Given the description of an element on the screen output the (x, y) to click on. 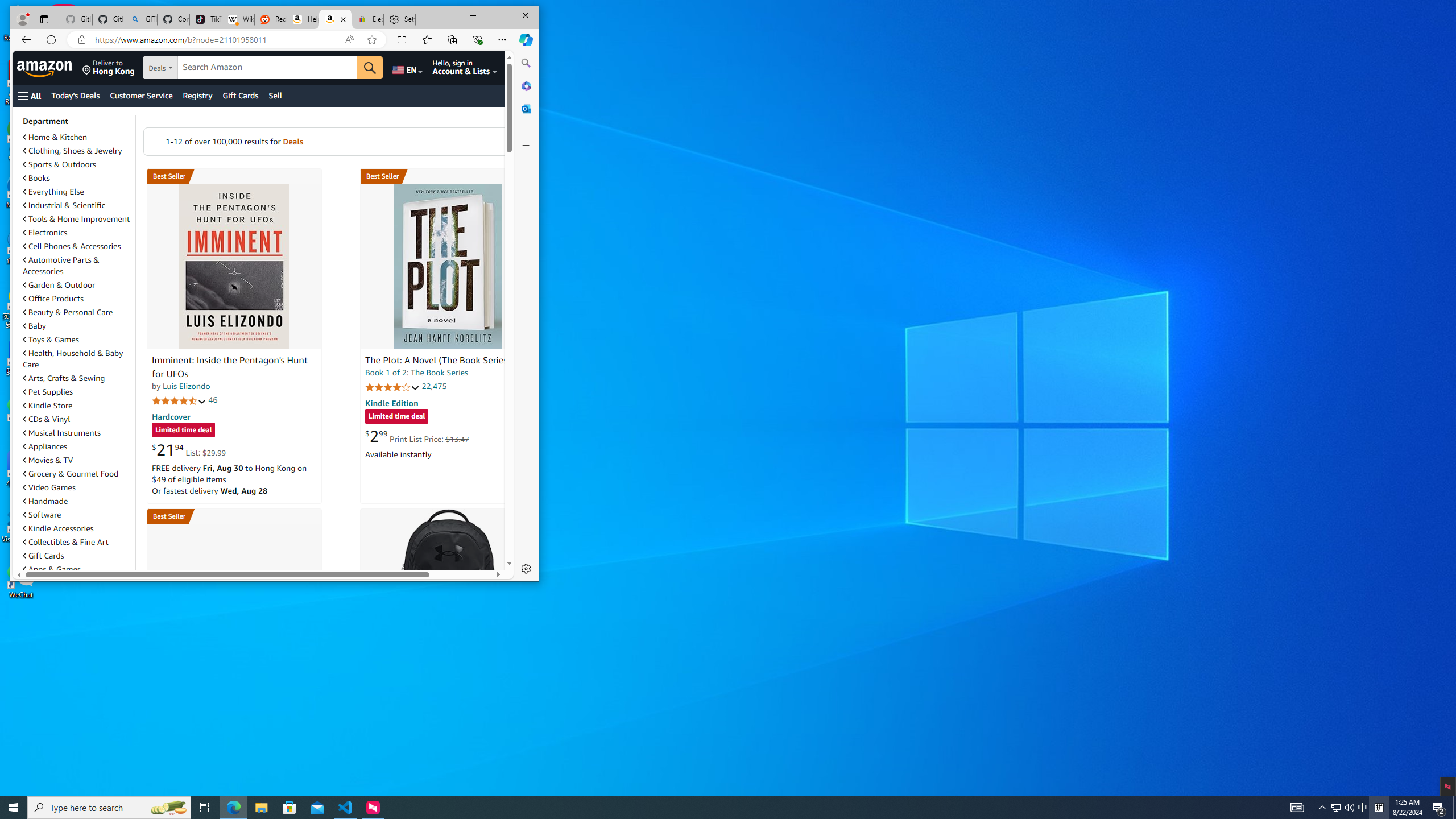
Sports & Outdoors (59, 163)
Skip to main content (58, 66)
Help & Contact Us - Amazon Customer Service (303, 19)
Show desktop (1454, 807)
Toys & Games (50, 339)
Arts, Crafts & Sewing (63, 378)
Everything Else (53, 191)
Kindle Edition (392, 402)
Collectibles & Fine Art (66, 542)
Software (42, 514)
Notification Chevron (1322, 807)
